Given the description of an element on the screen output the (x, y) to click on. 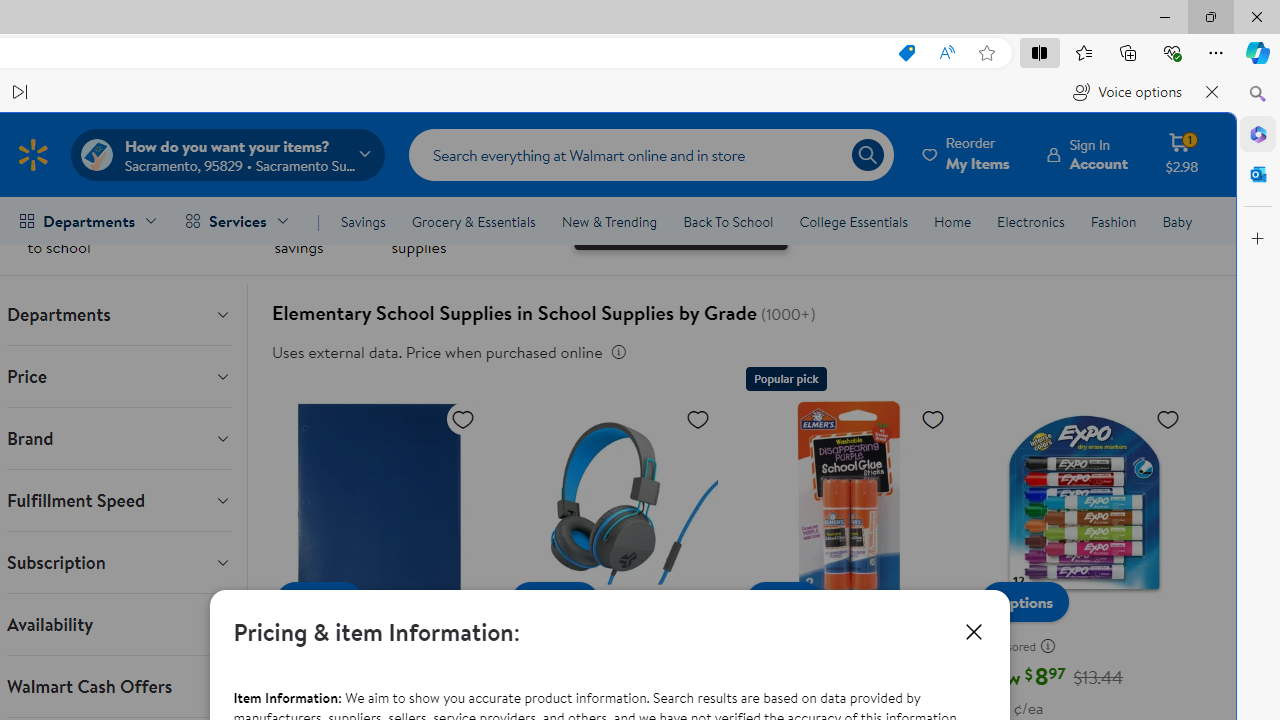
Close dialog (973, 631)
Close read aloud (1211, 92)
Voice options (1127, 92)
Close Search pane (1258, 94)
This site has coupons! Shopping in Microsoft Edge, 7 (906, 53)
